Given the description of an element on the screen output the (x, y) to click on. 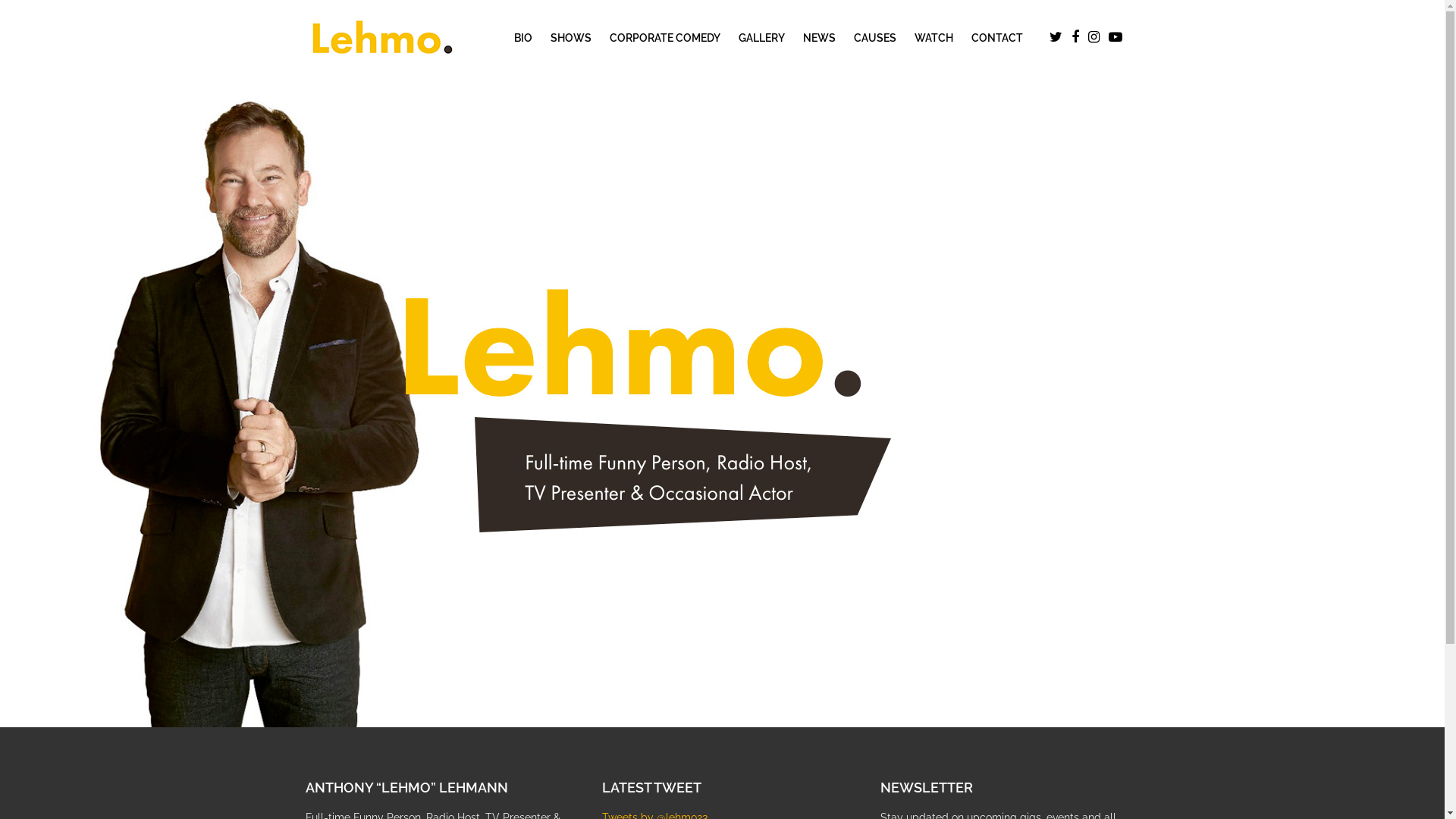
CAUSES Element type: text (874, 37)
CORPORATE COMEDY Element type: text (664, 37)
BIO Element type: text (523, 37)
CONTACT Element type: text (996, 37)
WATCH Element type: text (933, 37)
NEWS Element type: text (818, 37)
GALLERY Element type: text (761, 37)
SHOWS Element type: text (570, 37)
